Given the description of an element on the screen output the (x, y) to click on. 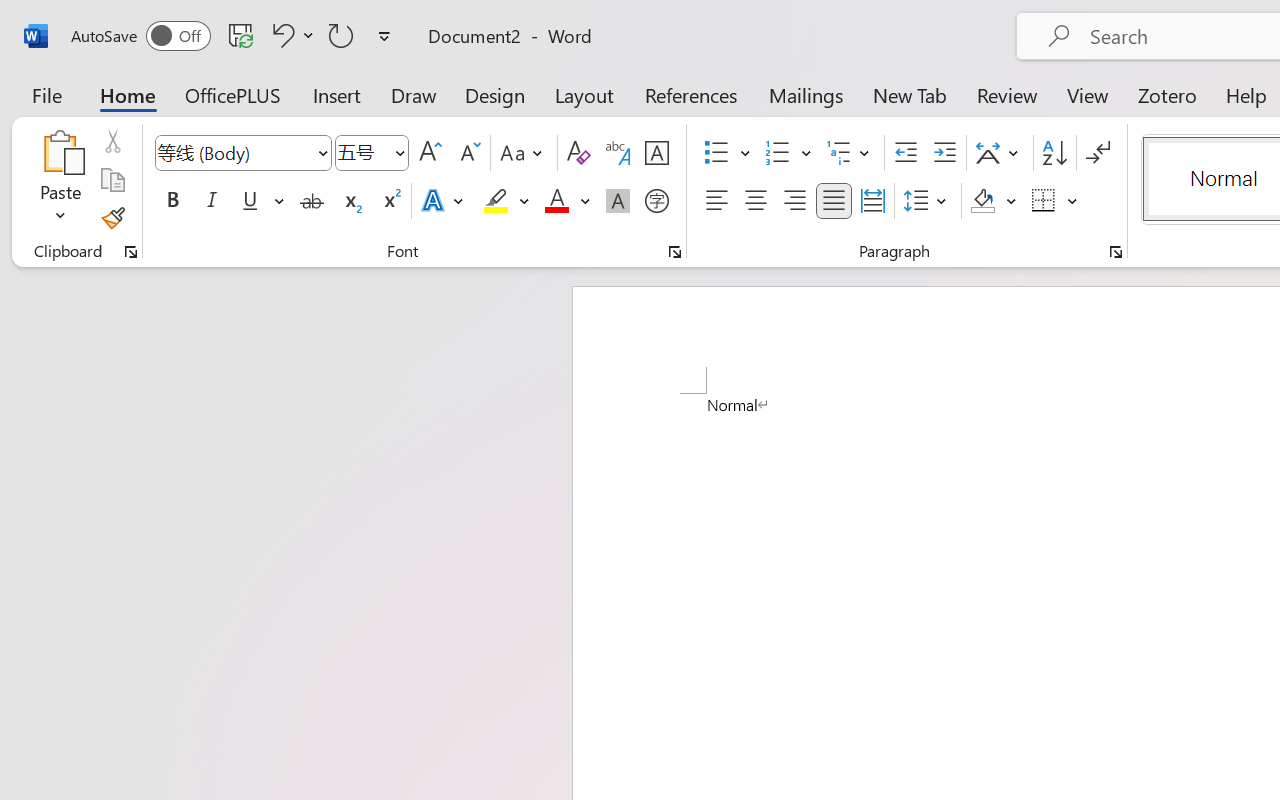
Distributed (872, 201)
Superscript (390, 201)
